Given the description of an element on the screen output the (x, y) to click on. 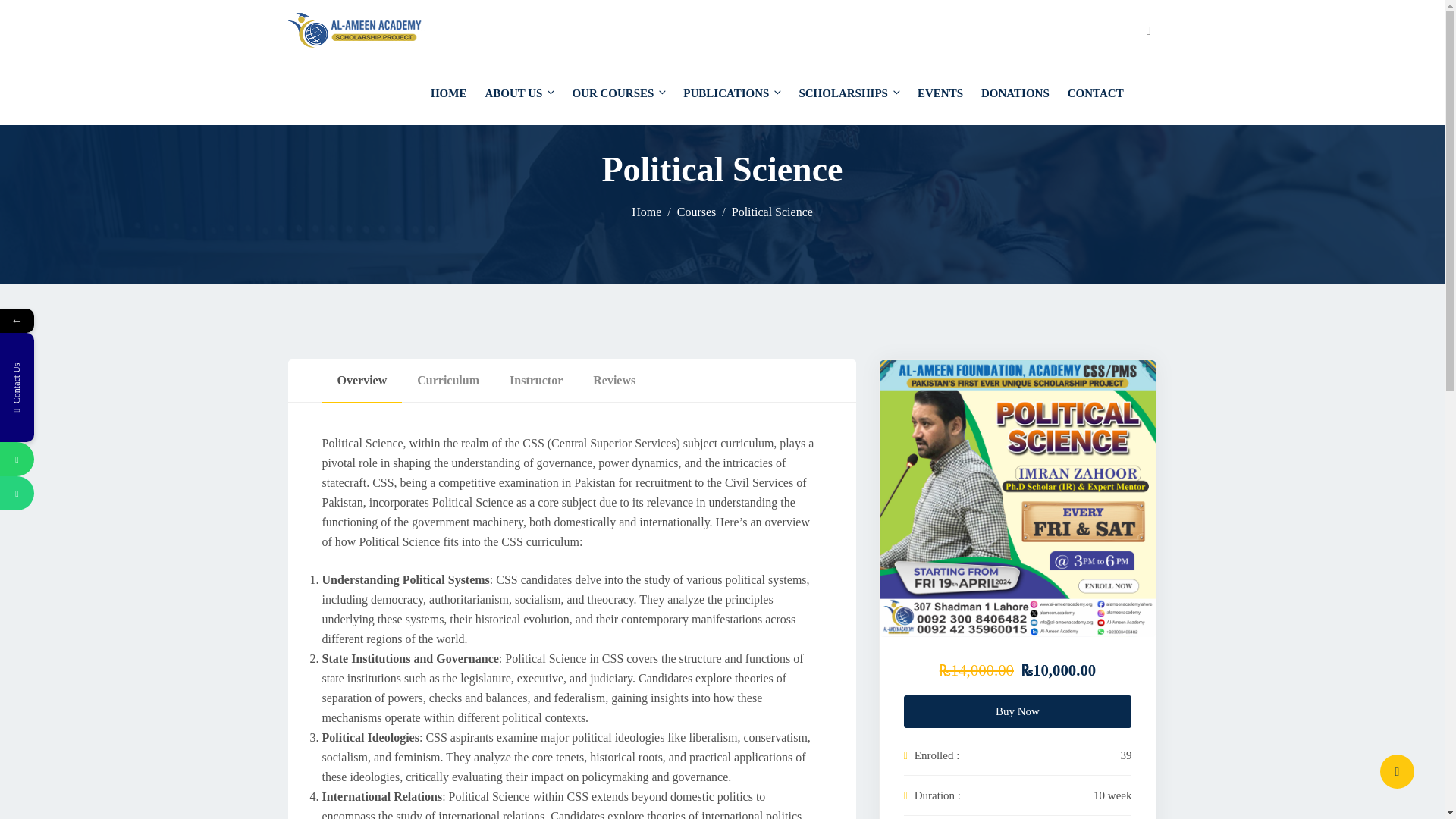
ABOUT US (518, 93)
Phone (16, 492)
OUR COURSES (618, 93)
WhatsApp (16, 458)
Phone (85, 492)
WhatsApp (85, 458)
